Given the description of an element on the screen output the (x, y) to click on. 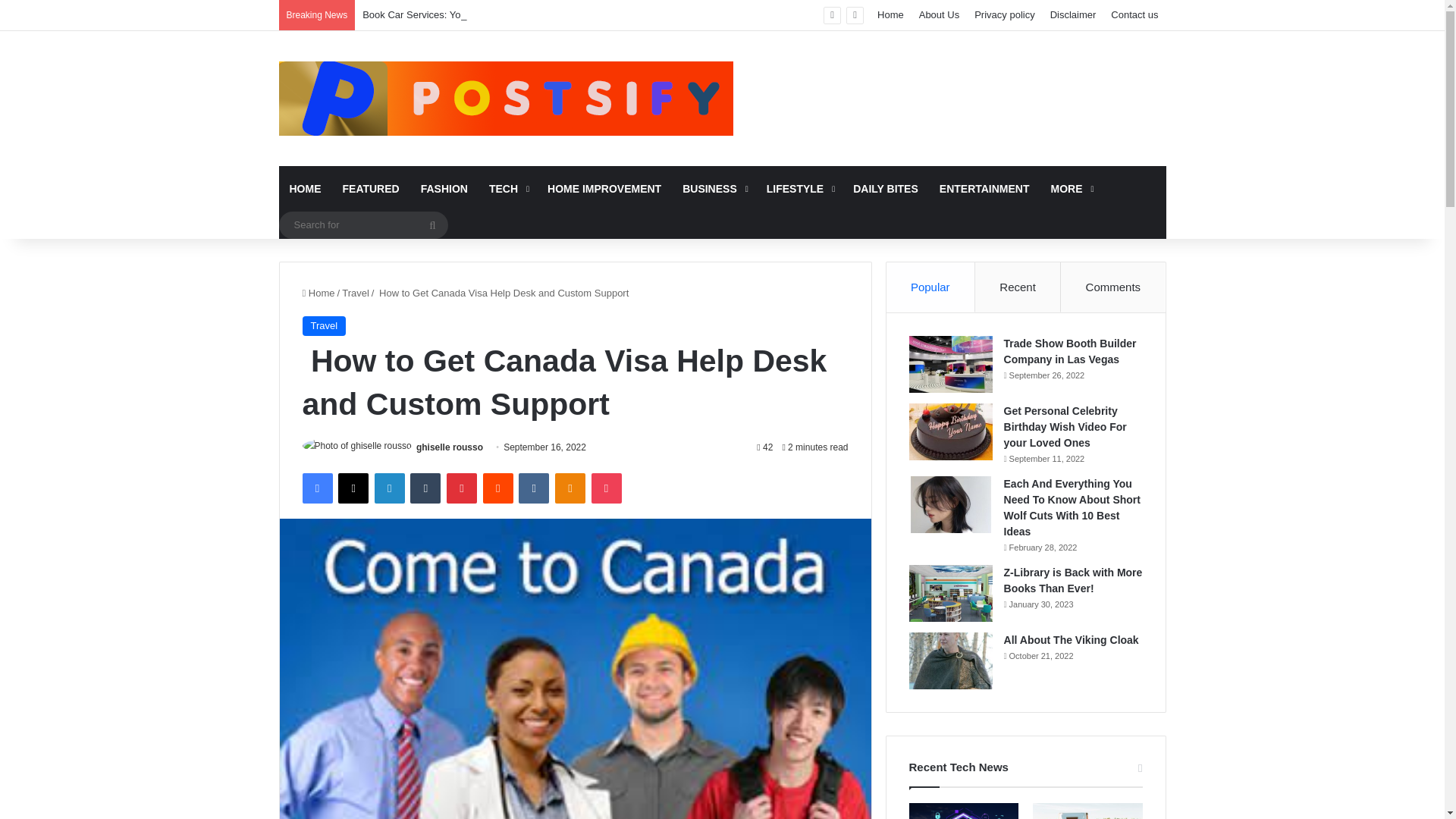
FEATURED (370, 188)
Search for (431, 225)
Facebook (316, 488)
Pocket (606, 488)
Privacy policy (1004, 15)
Contact us (1134, 15)
Disclaimer (1072, 15)
Postsify (506, 98)
Book Car Services: Your Comprehensive Guide (466, 14)
Odnoklassniki (569, 488)
Home (317, 292)
ENTERTAINMENT (984, 188)
BUSINESS (713, 188)
Facebook (316, 488)
About Us (938, 15)
